Given the description of an element on the screen output the (x, y) to click on. 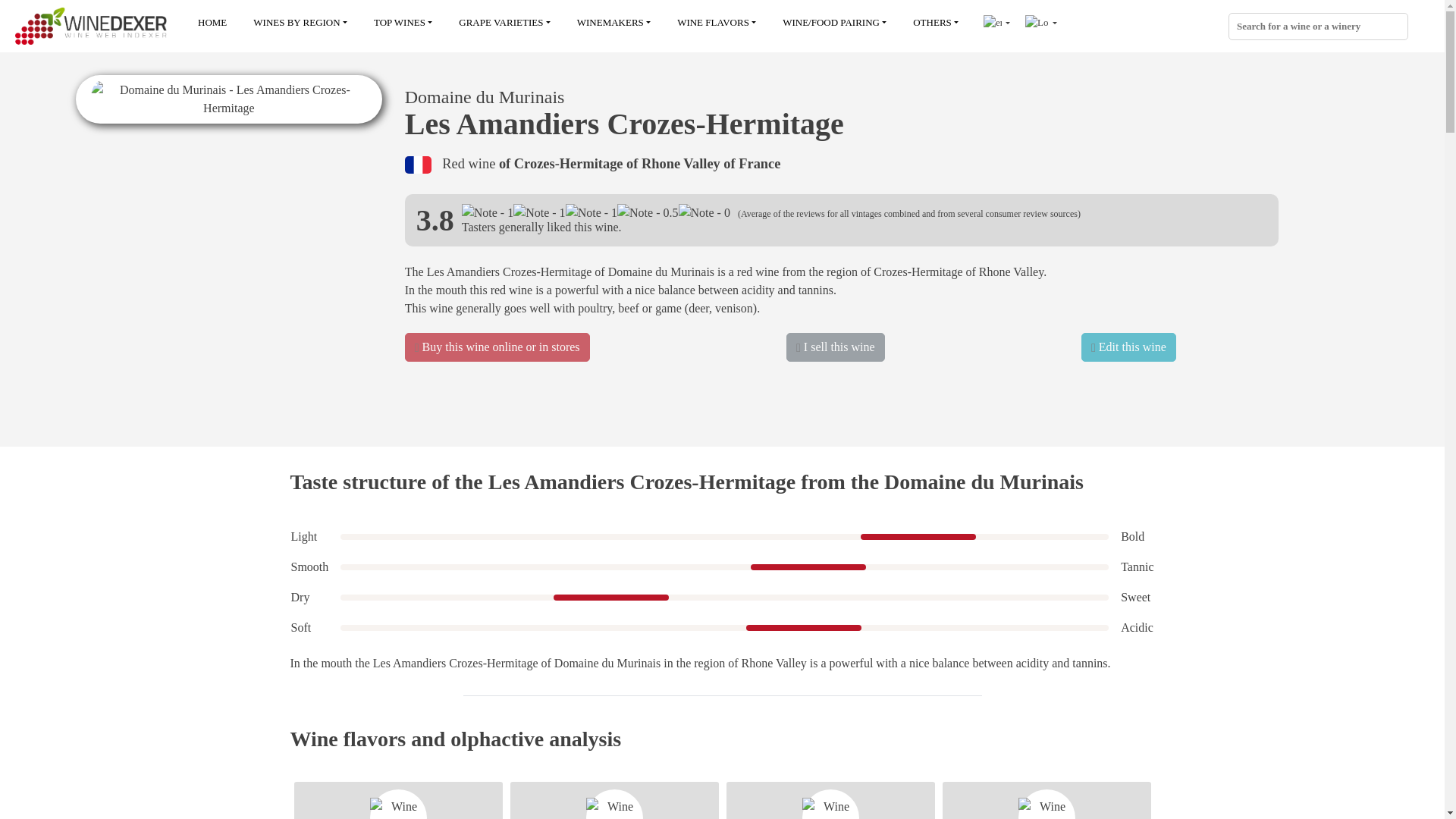
WINES BY REGION (300, 22)
Search (1397, 28)
Domaine du Murinais - Les Amandiers Crozes-Hermitage (228, 99)
HOME (212, 22)
TOP WINES (402, 22)
